Given the description of an element on the screen output the (x, y) to click on. 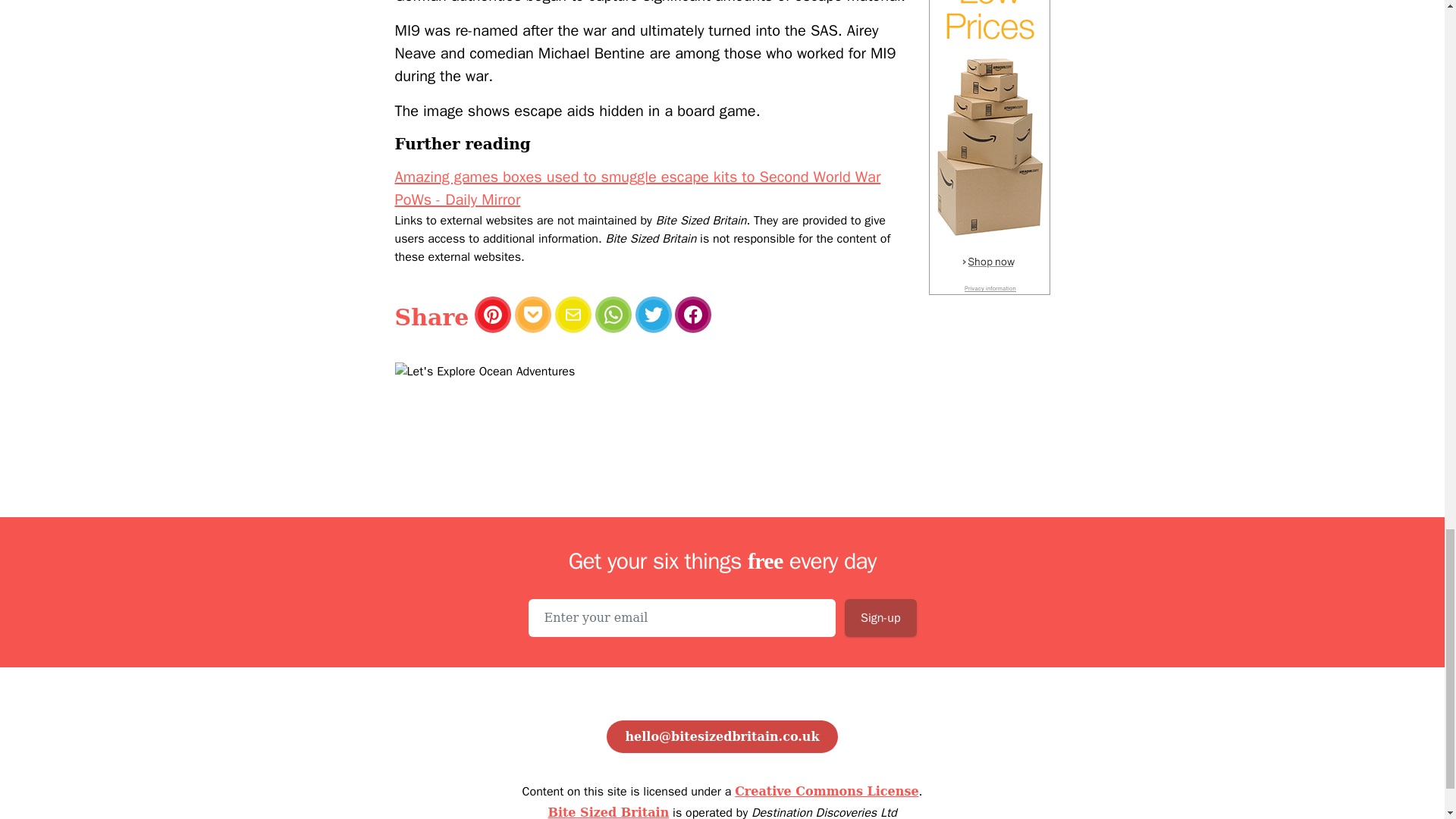
Creative Commons License (826, 790)
Email (572, 314)
Bite Sized Britain (607, 812)
Sign-up (879, 617)
Pinterest (492, 314)
Facebook (693, 314)
Twitter (652, 314)
Pocket (533, 314)
WhatsApp (613, 314)
